Given the description of an element on the screen output the (x, y) to click on. 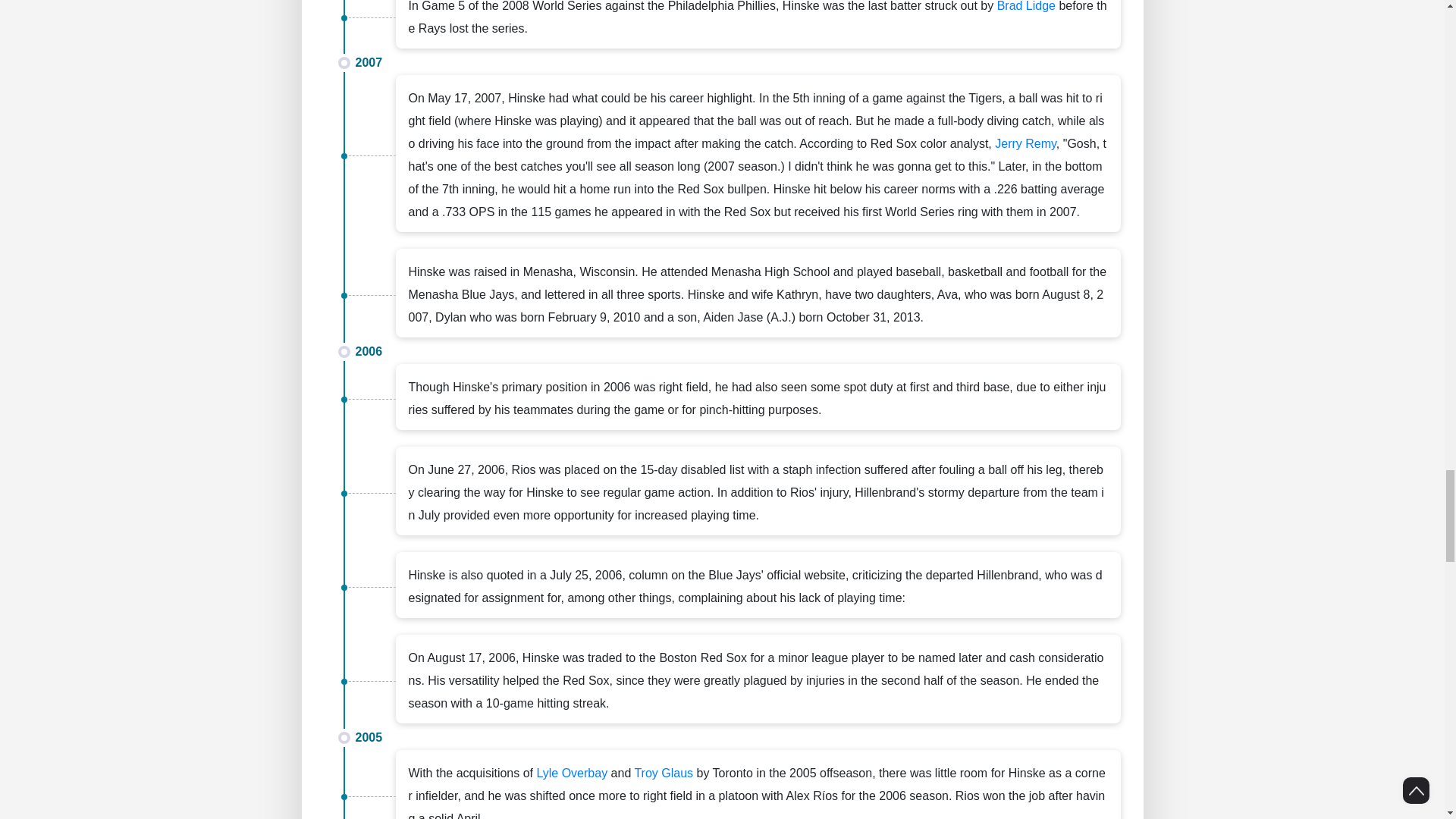
Lyle Overbay (571, 772)
Jerry Remy (1025, 143)
Troy Glaus (663, 772)
Brad Lidge (1026, 6)
